Given the description of an element on the screen output the (x, y) to click on. 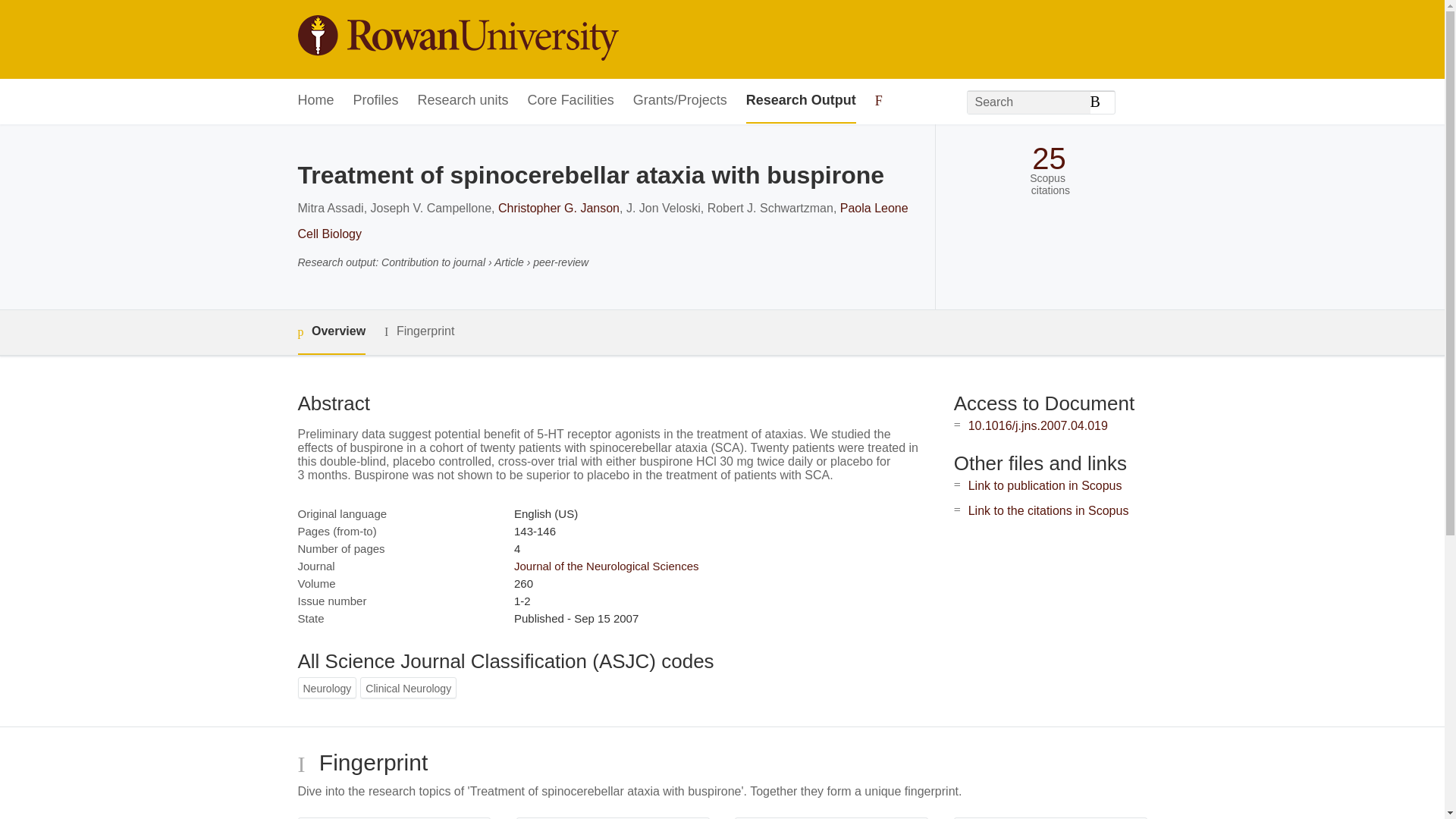
Link to the citations in Scopus (1048, 510)
Research units (462, 100)
Christopher G. Janson (558, 207)
Rowan University Home (457, 39)
Fingerprint (419, 331)
Paola Leone (874, 207)
Journal of the Neurological Sciences (605, 565)
Overview (331, 332)
Link to publication in Scopus (1045, 485)
Research Output (800, 100)
